Given the description of an element on the screen output the (x, y) to click on. 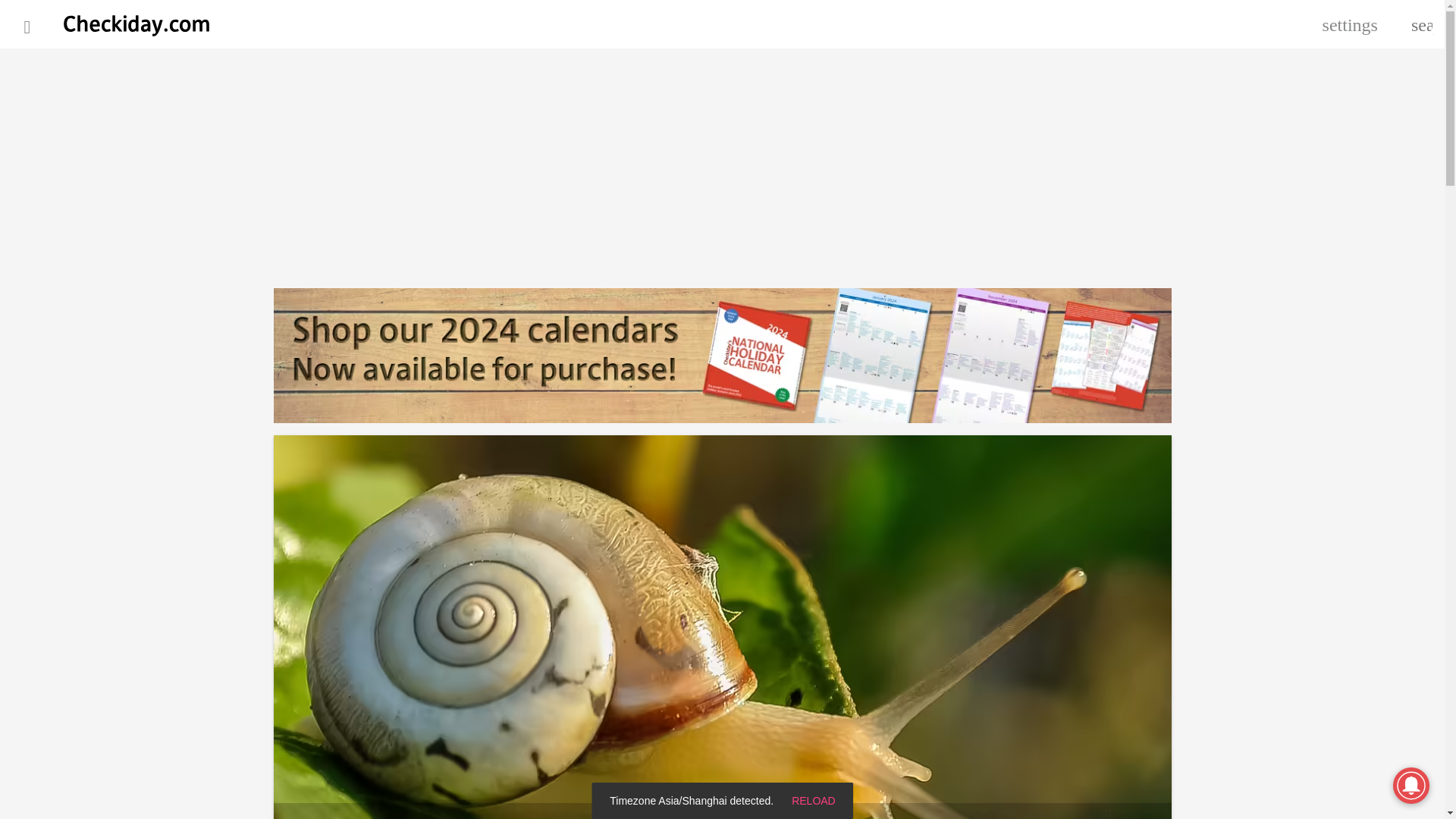
settings (1350, 24)
